Given the description of an element on the screen output the (x, y) to click on. 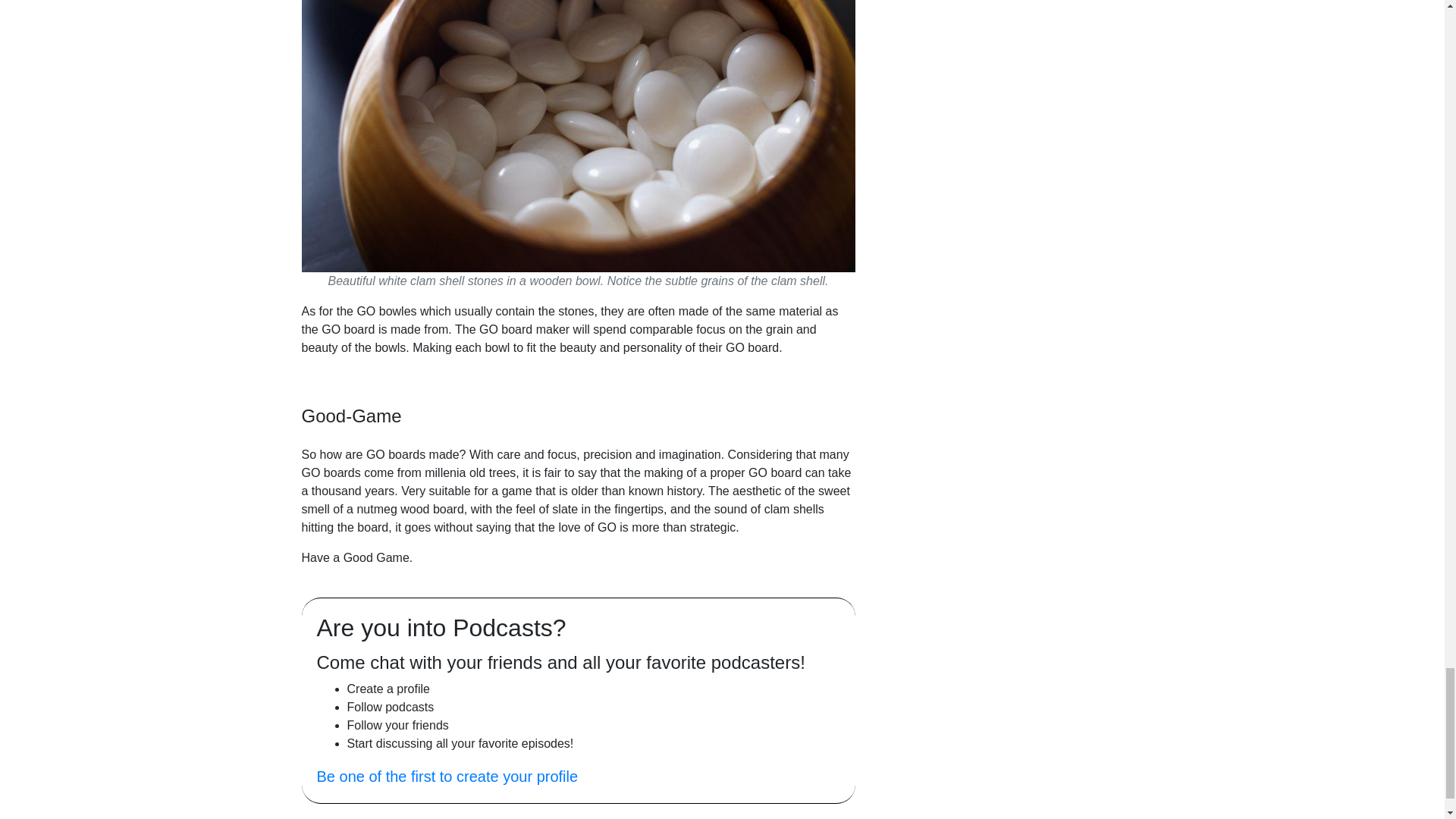
Be one of the first to create your profile (447, 776)
